Given the description of an element on the screen output the (x, y) to click on. 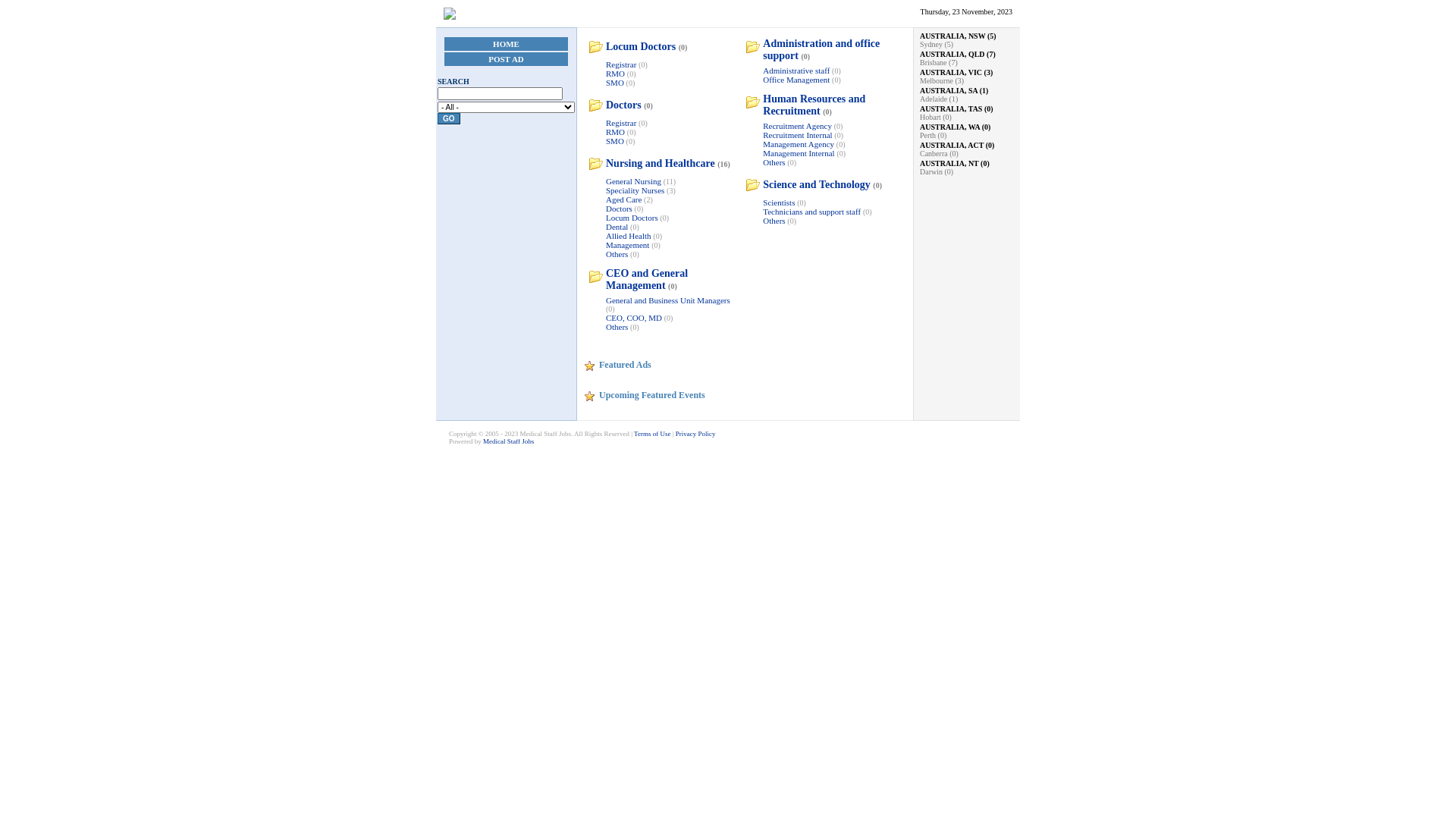
General Nursing Element type: text (633, 180)
Others Element type: text (616, 326)
General and Business Unit Managers Element type: text (667, 299)
SMO Element type: text (614, 140)
Doctors Element type: text (623, 104)
Scientists Element type: text (778, 202)
CEO, COO, MD Element type: text (634, 317)
AUSTRALIA, SA (1) Element type: text (966, 90)
Doctors Element type: text (618, 208)
Locum Doctors Element type: text (631, 217)
Human Resources and Recruitment Element type: text (813, 104)
AUSTRALIA, ACT (0) Element type: text (966, 145)
AUSTRALIA, NSW (5) Element type: text (966, 35)
Recruitment Agency Element type: text (796, 125)
Medical Staff Jobs Element type: text (508, 441)
Office Management Element type: text (795, 79)
Technicians and support staff Element type: text (811, 211)
Science and Technology Element type: text (816, 184)
Management Internal Element type: text (798, 152)
GO Element type: text (448, 118)
Melbourne (3) Element type: text (941, 80)
Sydney (5) Element type: text (936, 44)
Administration and office support Element type: text (820, 49)
Nursing and Healthcare Element type: text (661, 163)
Others Element type: text (773, 220)
Adelaide (1) Element type: text (938, 98)
Registrar Element type: text (620, 64)
Dental Element type: text (616, 226)
Speciality Nurses Element type: text (634, 189)
Administrative staff Element type: text (795, 70)
AUSTRALIA, QLD (7) Element type: text (966, 54)
SMO Element type: text (614, 82)
Locum Doctors Element type: text (640, 46)
AUSTRALIA, VIC (3) Element type: text (966, 72)
Allied Health Element type: text (628, 235)
AUSTRALIA, NT (0) Element type: text (966, 163)
Management Element type: text (627, 244)
RMO Element type: text (614, 131)
CEO and General Management Element type: text (646, 279)
Registrar Element type: text (620, 122)
POST AD Element type: text (505, 58)
HOME Element type: text (505, 43)
Terms of Use Element type: text (651, 433)
Aged Care Element type: text (623, 198)
AUSTRALIA, WA (0) Element type: text (966, 126)
Perth (0) Element type: text (932, 135)
Others Element type: text (616, 253)
Canberra (0) Element type: text (938, 153)
Recruitment Internal Element type: text (796, 134)
RMO Element type: text (614, 73)
Privacy Policy Element type: text (695, 433)
Others Element type: text (773, 161)
AUSTRALIA, TAS (0) Element type: text (966, 108)
Brisbane (7) Element type: text (938, 62)
Management Agency Element type: text (798, 143)
Darwin (0) Element type: text (936, 171)
Hobart (0) Element type: text (935, 116)
